Given the description of an element on the screen output the (x, y) to click on. 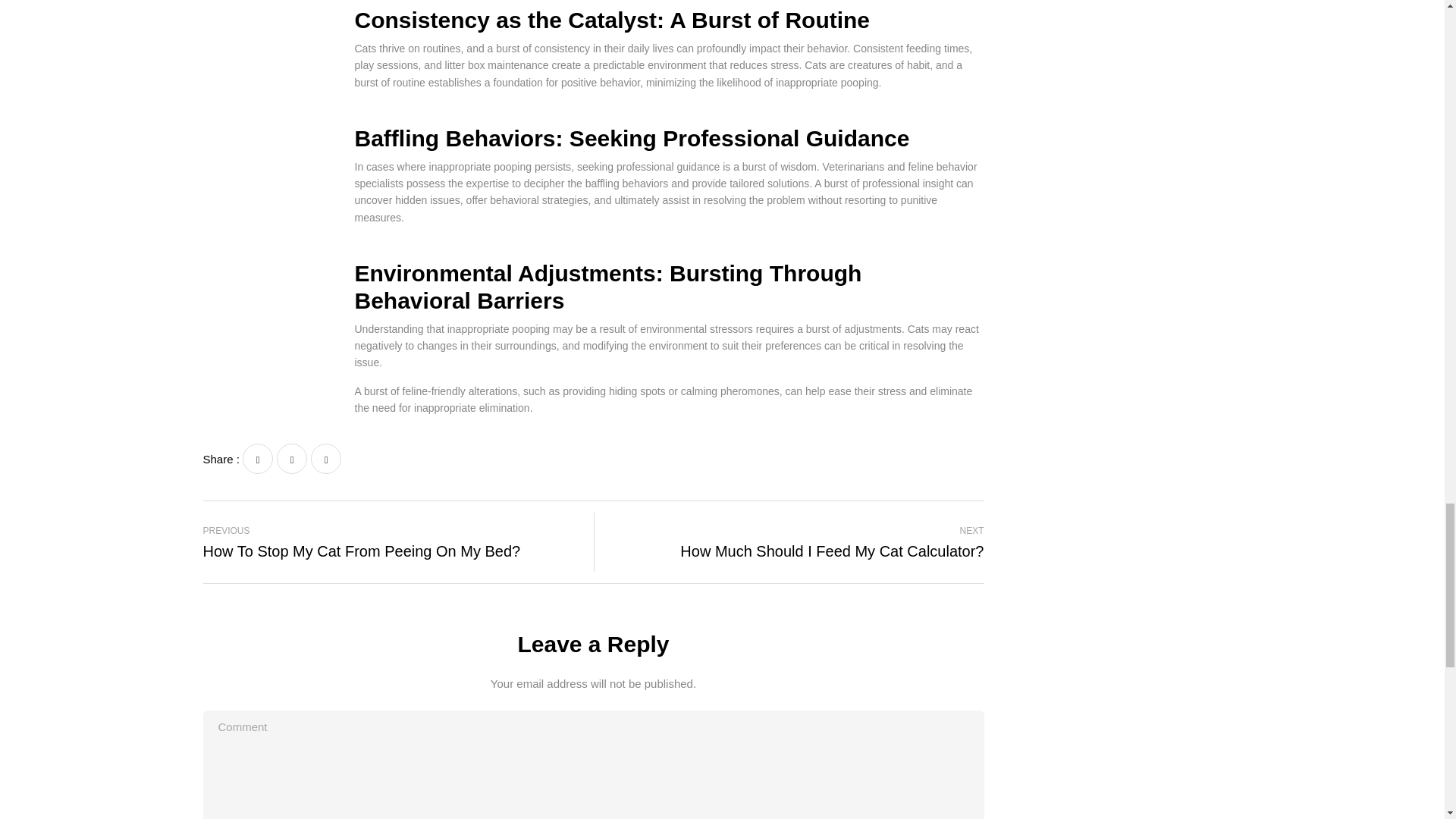
Facebook (258, 458)
Twitter (392, 542)
LinkedIn (291, 458)
